Given the description of an element on the screen output the (x, y) to click on. 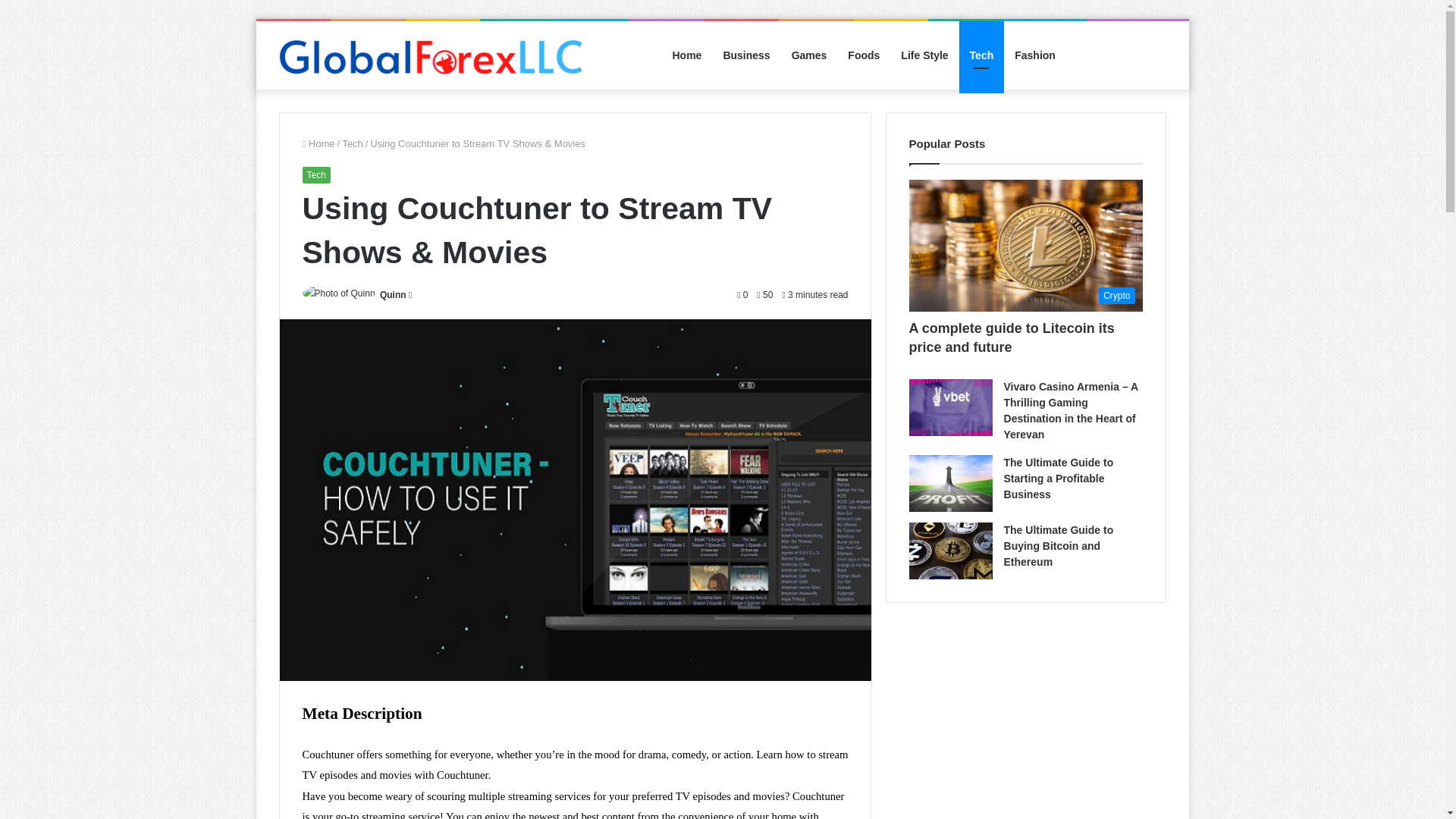
GlobalForexLLc (430, 55)
Quinn (393, 294)
Home (317, 143)
Tech (315, 175)
Quinn (393, 294)
Business (745, 55)
Tech (352, 143)
Fashion (1034, 55)
Life Style (923, 55)
